Given the description of an element on the screen output the (x, y) to click on. 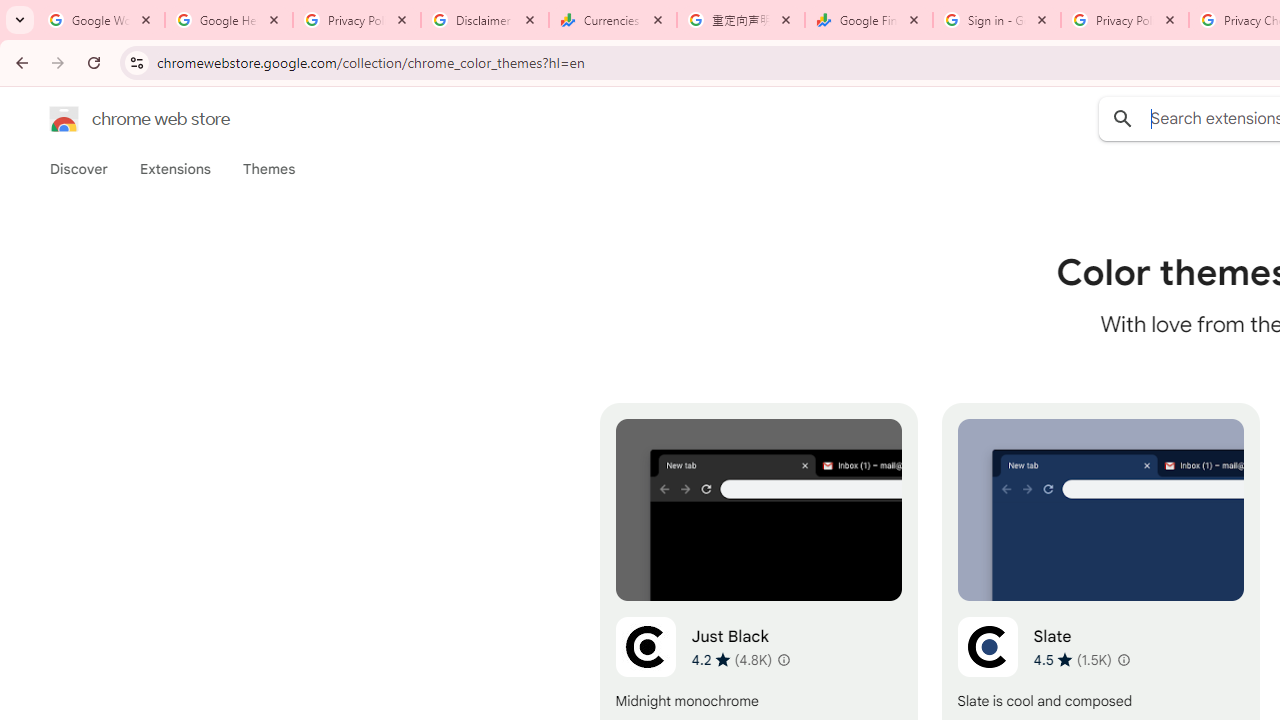
Discover (79, 169)
Chrome Web Store logo chrome web store (118, 118)
Average rating 4.2 out of 5 stars. 4.8K ratings. (732, 659)
Currencies - Google Finance (613, 20)
Learn more about results and reviews "Slate" (1122, 659)
Extensions (174, 169)
Google Workspace Admin Community (101, 20)
